Given the description of an element on the screen output the (x, y) to click on. 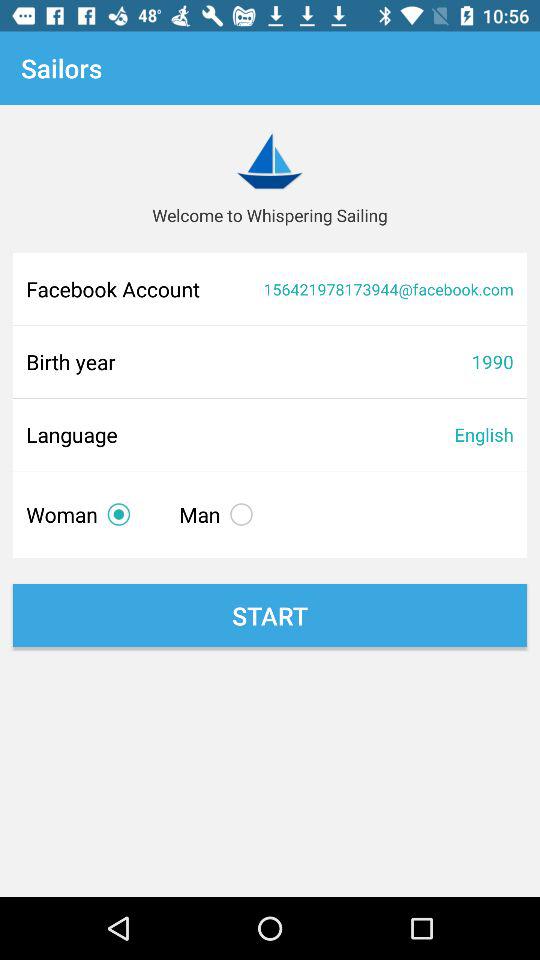
launch the woman item (82, 514)
